Given the description of an element on the screen output the (x, y) to click on. 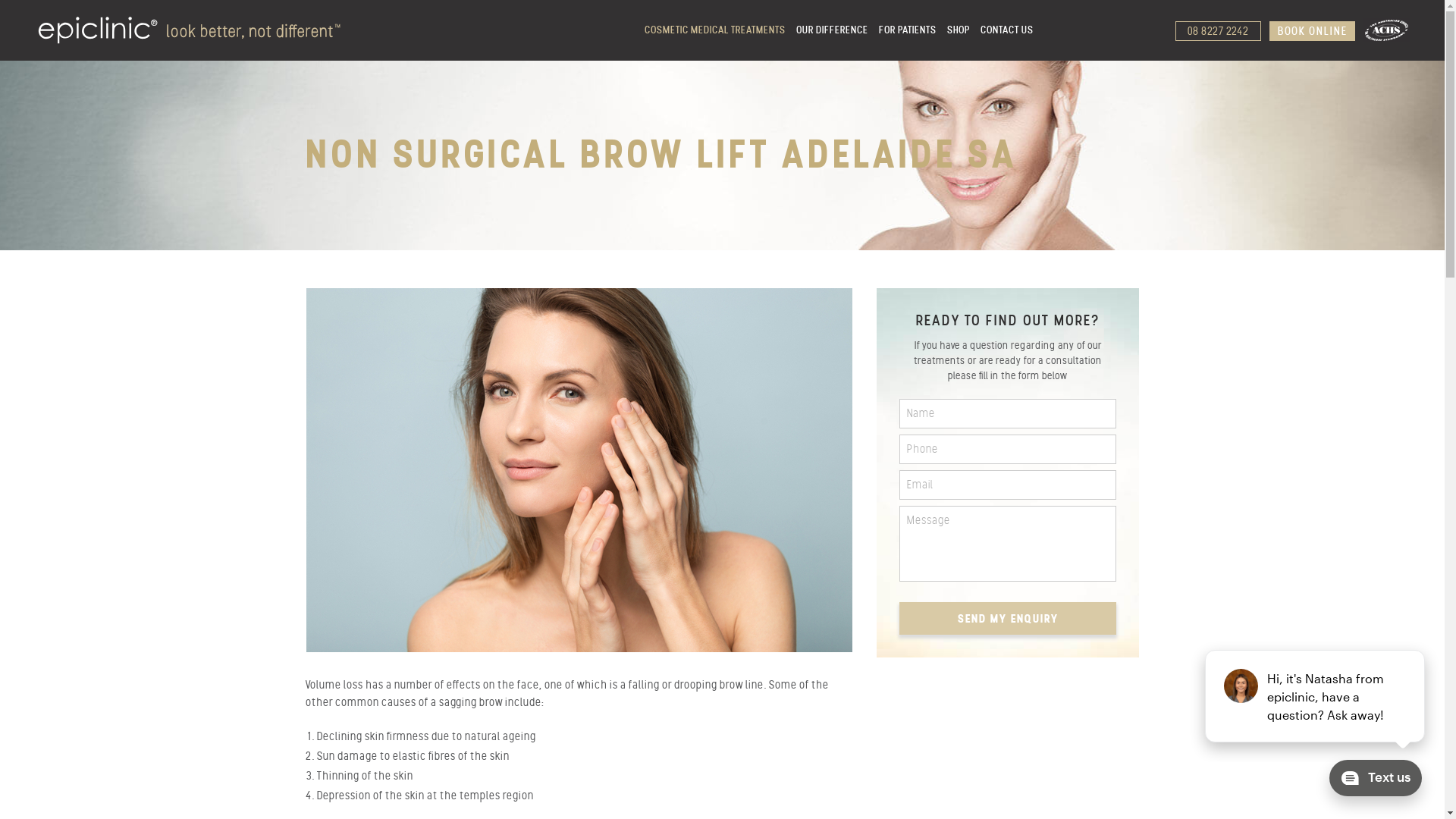
CONTACT US Element type: text (1006, 30)
OUR DIFFERENCE Element type: text (831, 30)
COSMETIC MEDICAL TREATMENTS Element type: text (714, 30)
08 8227 2242 Element type: text (1218, 30)
FOR PATIENTS Element type: text (907, 30)
podium webchat widget prompt Element type: hover (1315, 696)
BOOK ONLINE Element type: text (1312, 30)
SHOP Element type: text (958, 30)
SEND MY ENQUIRY Element type: text (1008, 618)
